Given the description of an element on the screen output the (x, y) to click on. 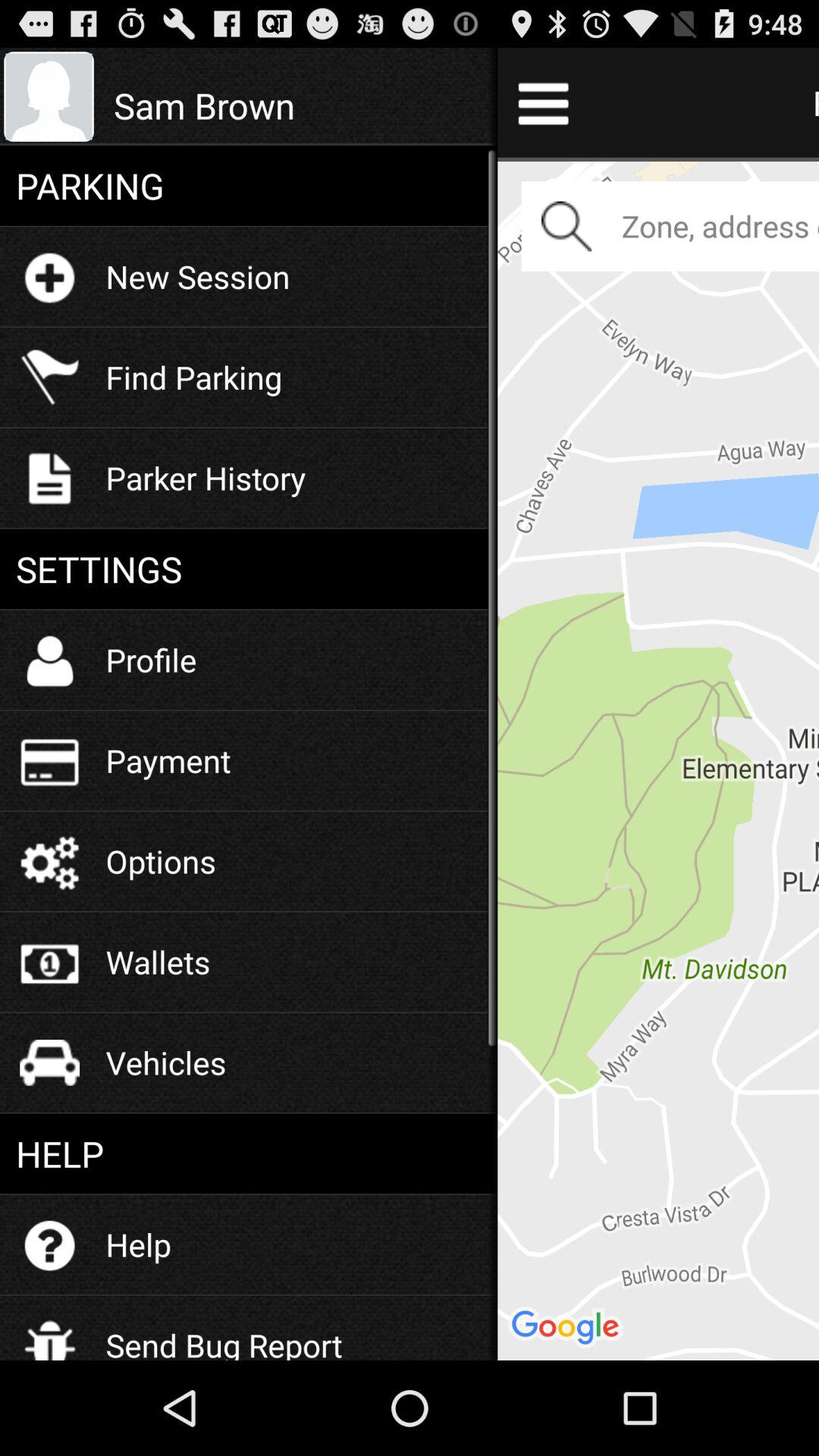
open send bug report icon (223, 1333)
